Given the description of an element on the screen output the (x, y) to click on. 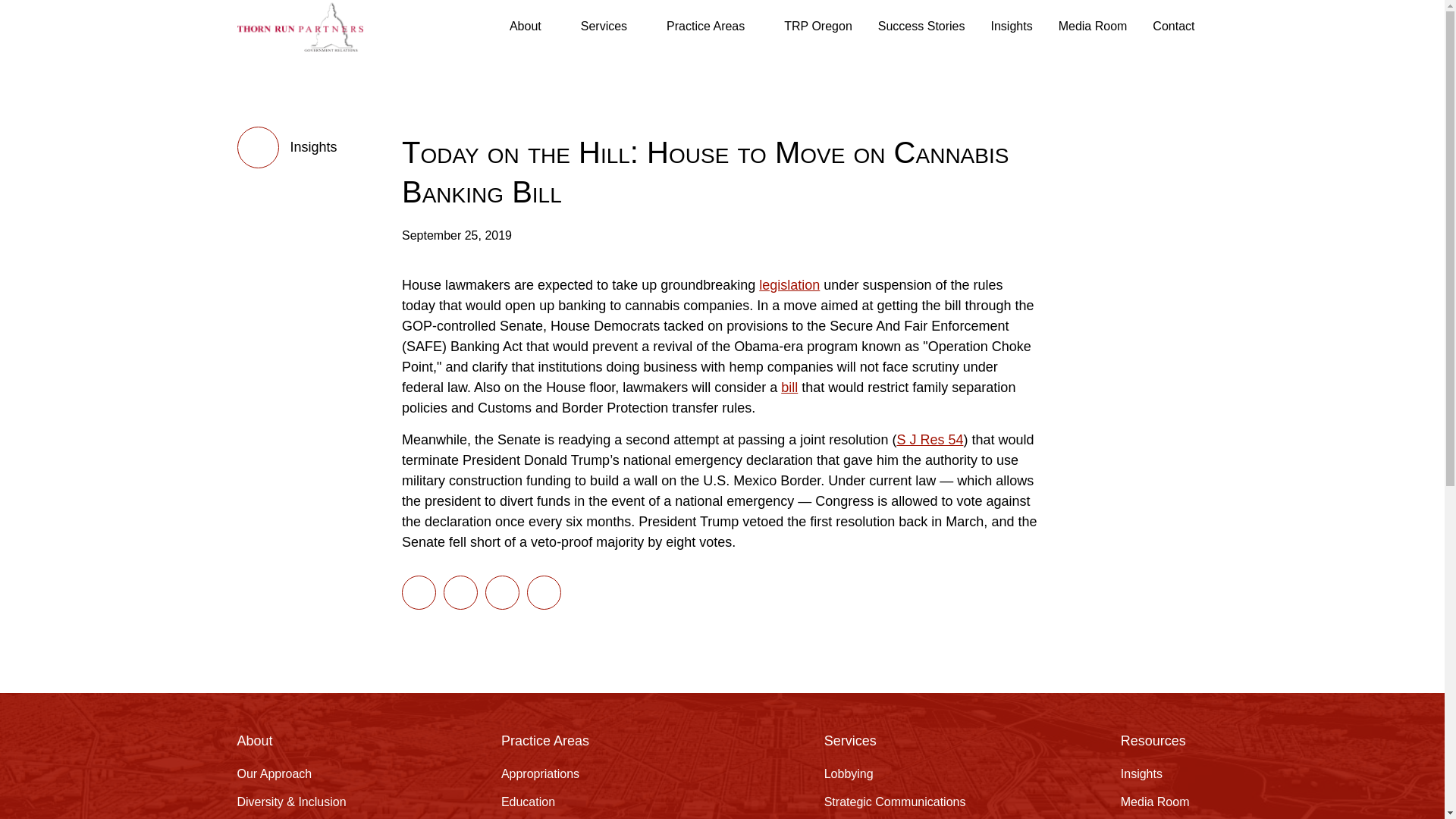
S J Res 54 (929, 439)
bill (788, 387)
Contact (1173, 26)
legislation (788, 284)
Media Room (1092, 26)
Success Stories (921, 26)
Insights (1011, 26)
TRP Oregon (817, 26)
Our Approach (273, 773)
Insights (285, 147)
